Given the description of an element on the screen output the (x, y) to click on. 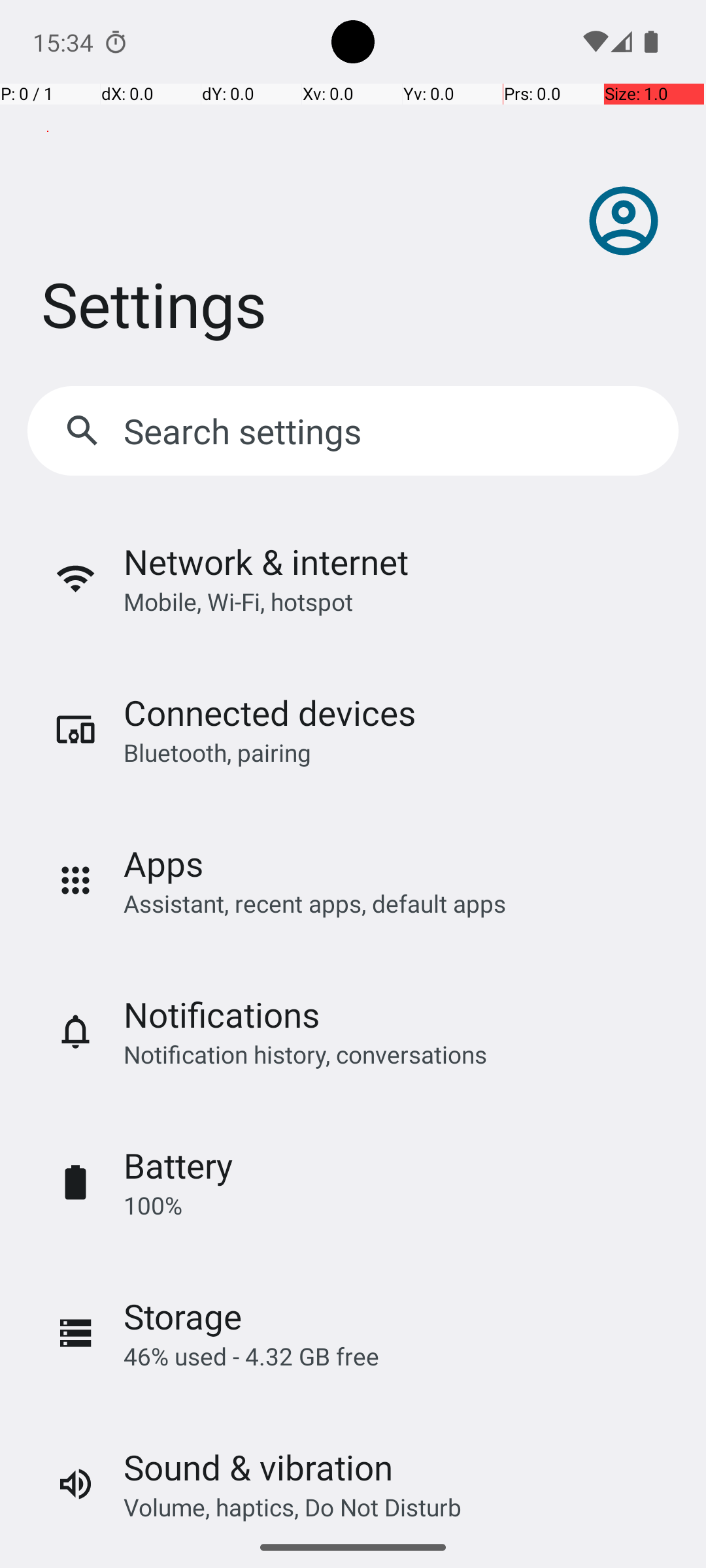
46% used - 4.32 GB free Element type: android.widget.TextView (251, 1355)
